Given the description of an element on the screen output the (x, y) to click on. 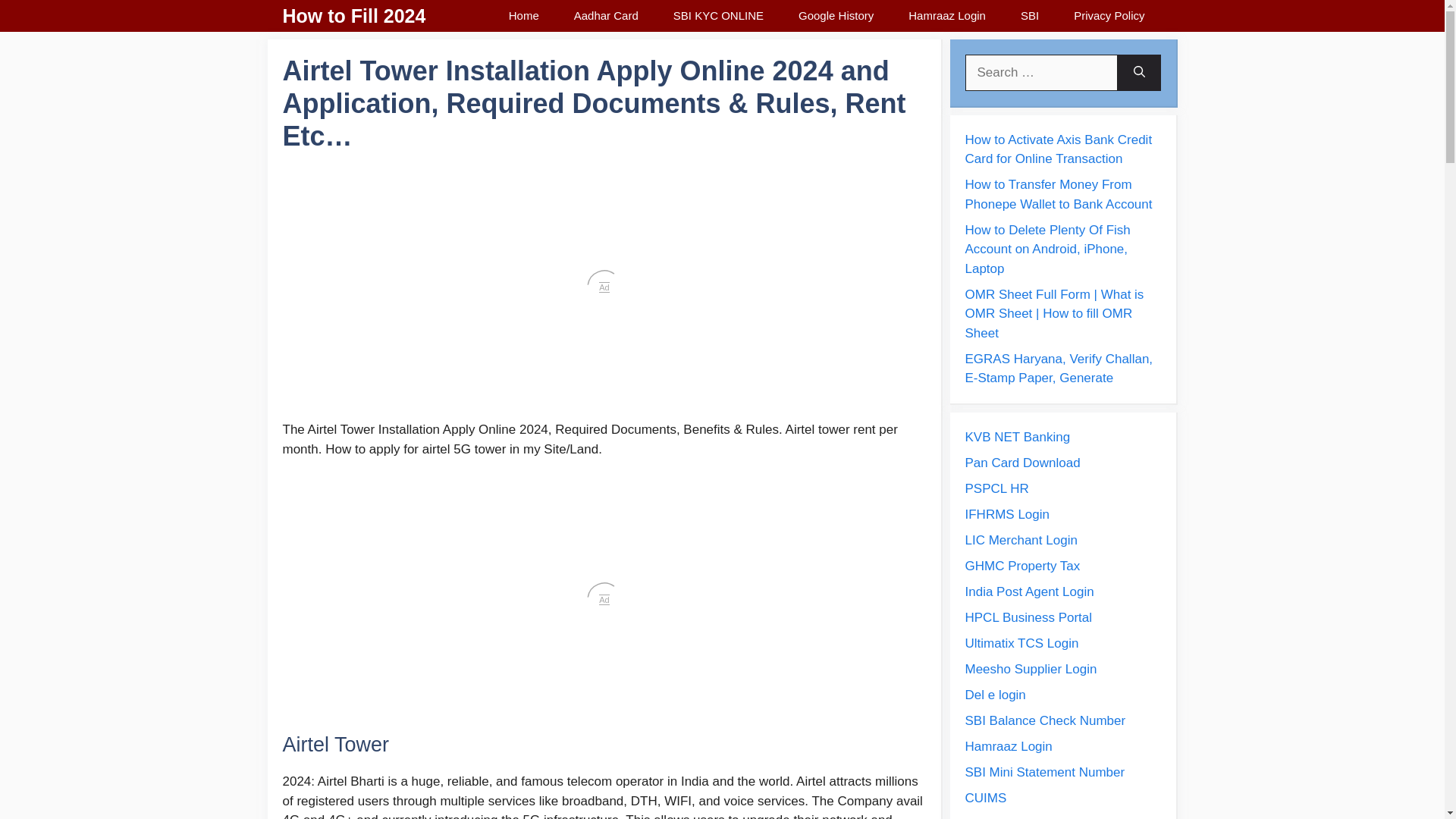
SBI Balance Check Number (1044, 719)
How to Fill 2024 (353, 15)
LIC Merchant Login (1020, 539)
Pan Card Download (1021, 462)
Home (524, 15)
How to Transfer Money From Phonepe Wallet to Bank Account (1057, 194)
IFHRMS Login (1005, 513)
Hamraaz Login (947, 15)
SBI KYC ONLINE (718, 15)
Aadhar Card (606, 15)
Meesho Supplier Login (1029, 667)
EGRAS Haryana, Verify Challan, E-Stamp Paper, Generate (1058, 368)
Del e login (994, 694)
SBI Mini Statement Number (1043, 771)
KVB NET Banking (1016, 436)
